Given the description of an element on the screen output the (x, y) to click on. 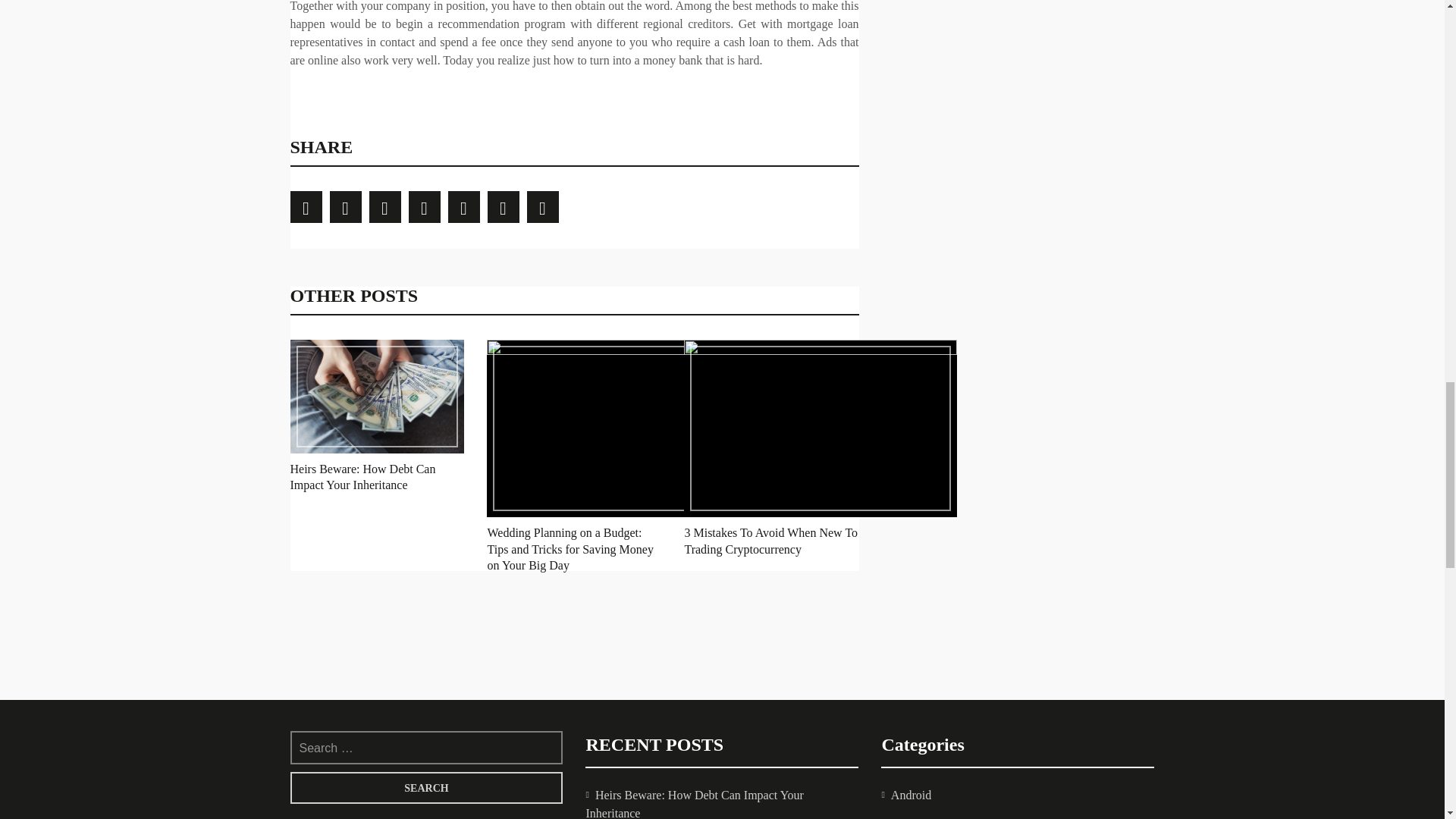
Search (425, 787)
Search (425, 787)
3 Mistakes To Avoid When New To Trading Cryptocurrency (770, 540)
Heirs Beware: How Debt Can Impact Your Inheritance (362, 476)
